Given the description of an element on the screen output the (x, y) to click on. 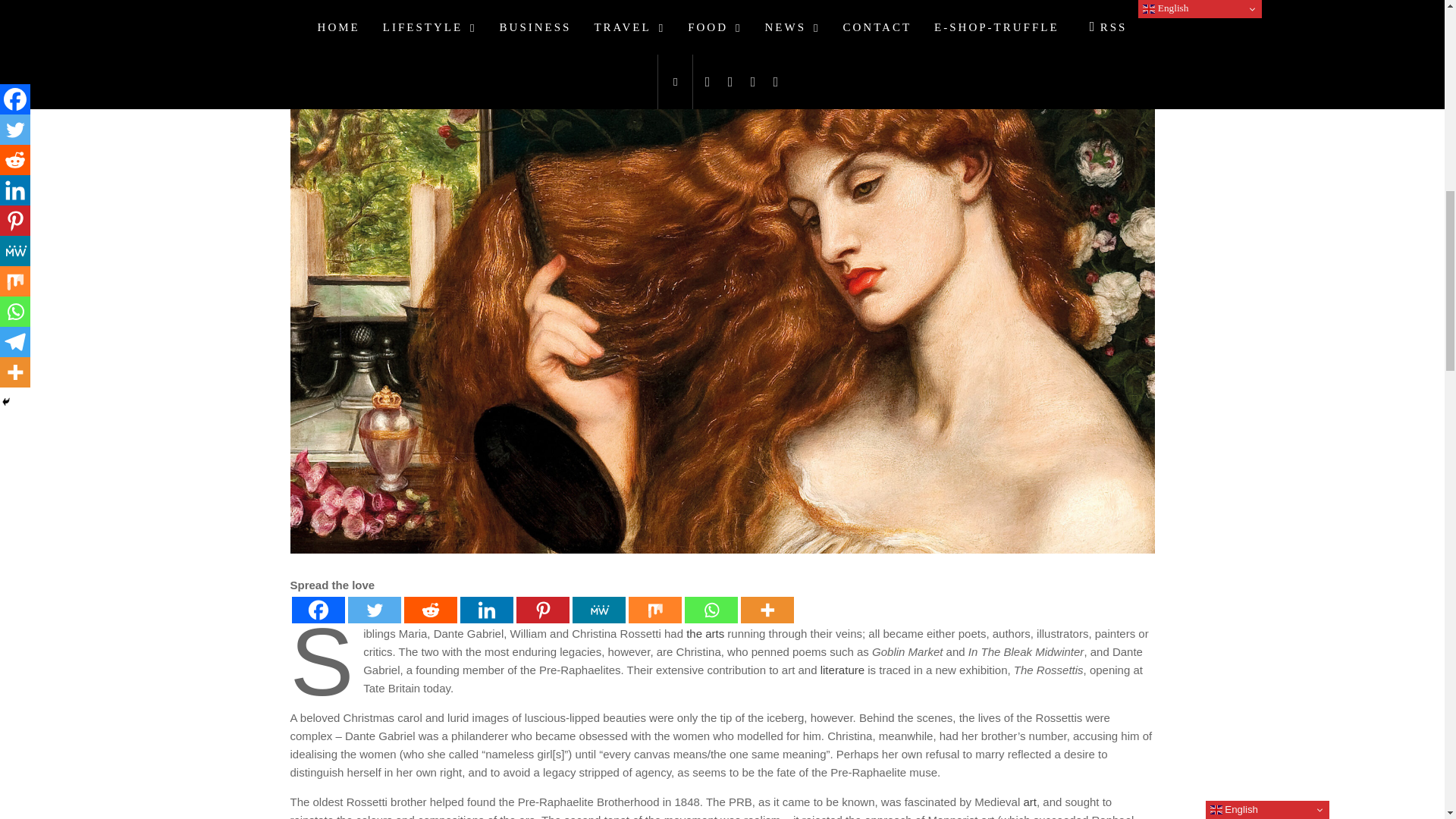
Reddit (430, 610)
Facebook (317, 610)
Linkedin (486, 610)
More (766, 610)
Whatsapp (710, 610)
Mix (654, 610)
Twitter (373, 610)
MeWe (598, 610)
Pinterest (542, 610)
